Given the description of an element on the screen output the (x, y) to click on. 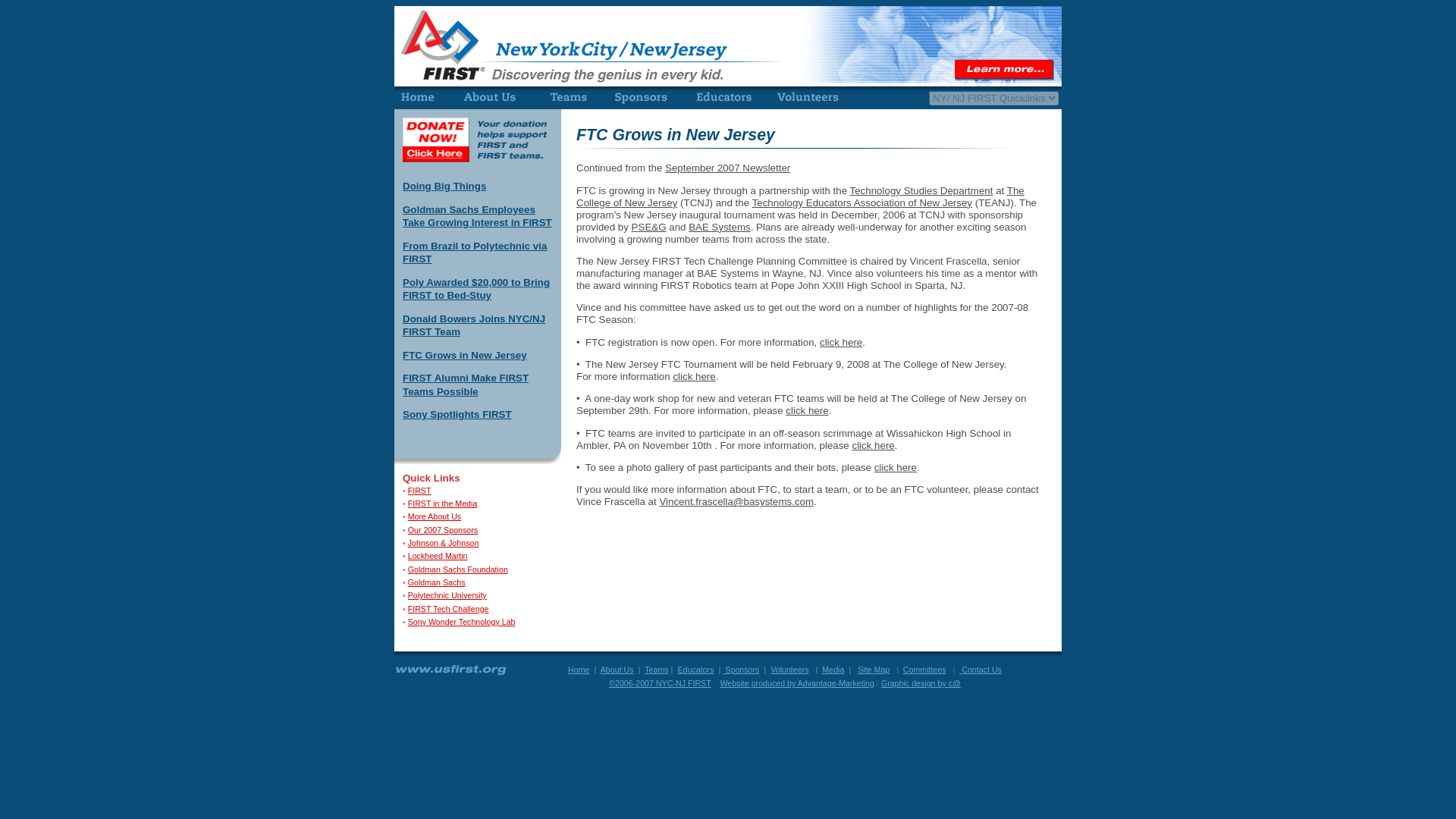
FIRST (418, 490)
BAE Systems (718, 226)
click here (693, 376)
Our 2007 Sponsors (442, 529)
Technology Studies Department (921, 190)
Sony Wonder Technology Lab (461, 621)
Goldman Sachs (436, 582)
More About Us (434, 515)
Sony Spotlights FIRST (457, 414)
click here (896, 467)
From Brazil to Polytechnic via FIRST (475, 252)
click here (872, 445)
The College of New Jersey (800, 196)
Goldman Sachs Foundation (457, 569)
FIRST Tech Challenge (448, 608)
